Given the description of an element on the screen output the (x, y) to click on. 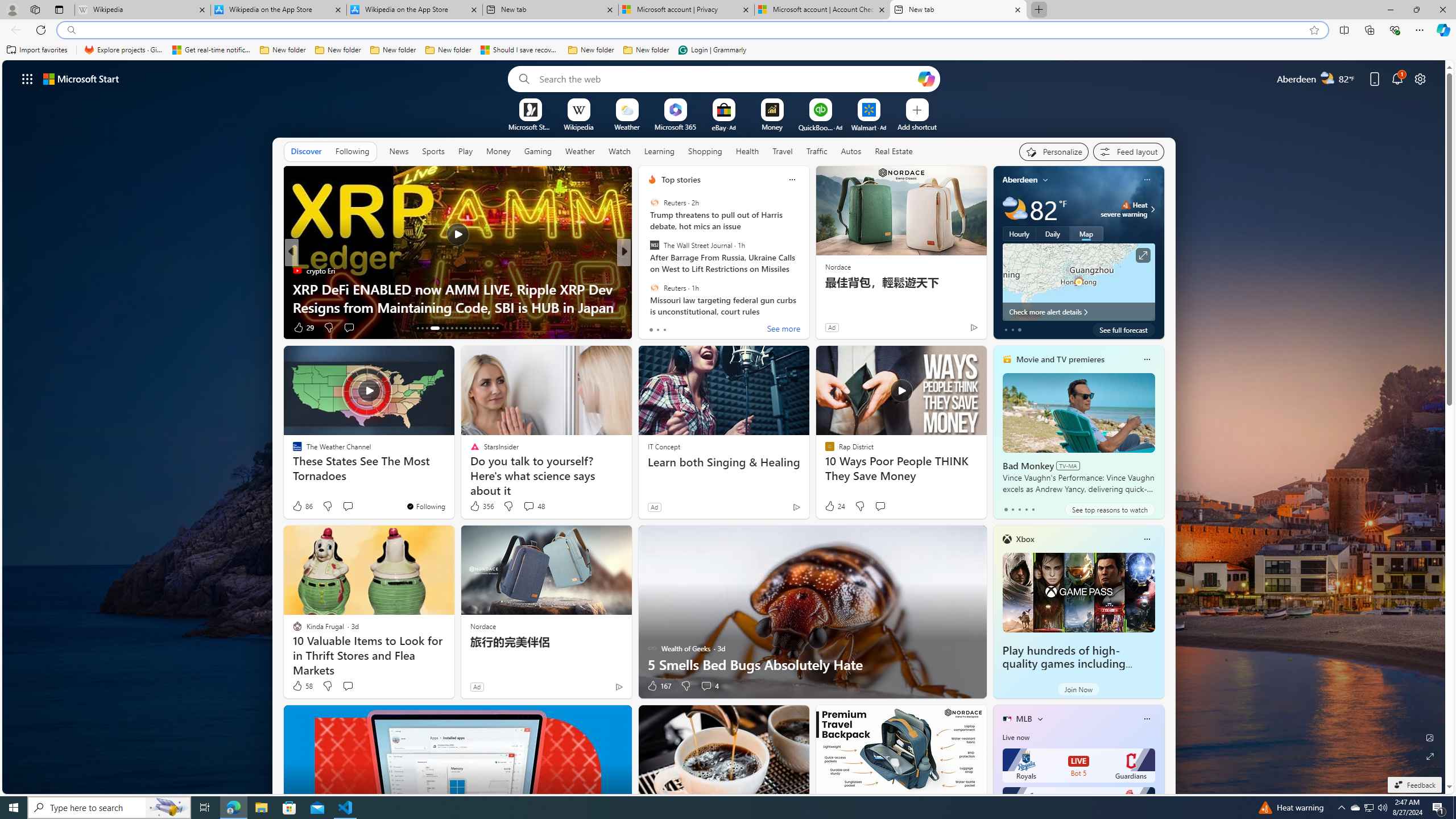
Gaming (537, 151)
Autos (851, 151)
Dislike (685, 685)
Feed settings (1128, 151)
You're following Newsweek (949, 329)
Movie and TV premieres (1060, 359)
tab-4 (1032, 509)
AutomationID: tab-15 (426, 328)
